Given the description of an element on the screen output the (x, y) to click on. 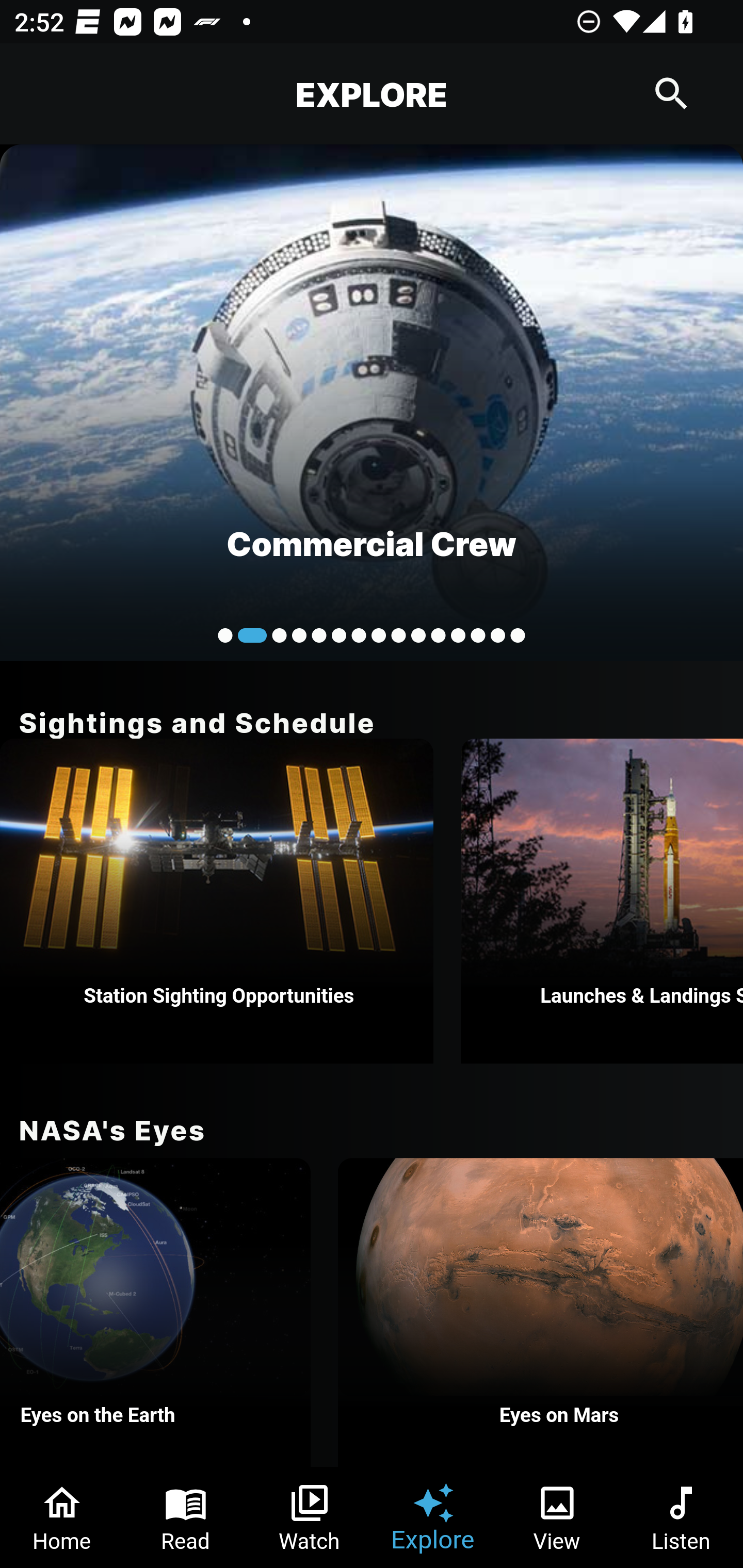
Commercial Crew
Hello World (371, 402)
Station Sighting Opportunities (216, 900)
Launches & Landings Schedule (601, 900)
Eyes on the Earth (155, 1312)
Eyes on Mars (540, 1312)
Home
Tab 1 of 6 (62, 1517)
Read
Tab 2 of 6 (185, 1517)
Watch
Tab 3 of 6 (309, 1517)
Explore
Tab 4 of 6 (433, 1517)
View
Tab 5 of 6 (556, 1517)
Listen
Tab 6 of 6 (680, 1517)
